Given the description of an element on the screen output the (x, y) to click on. 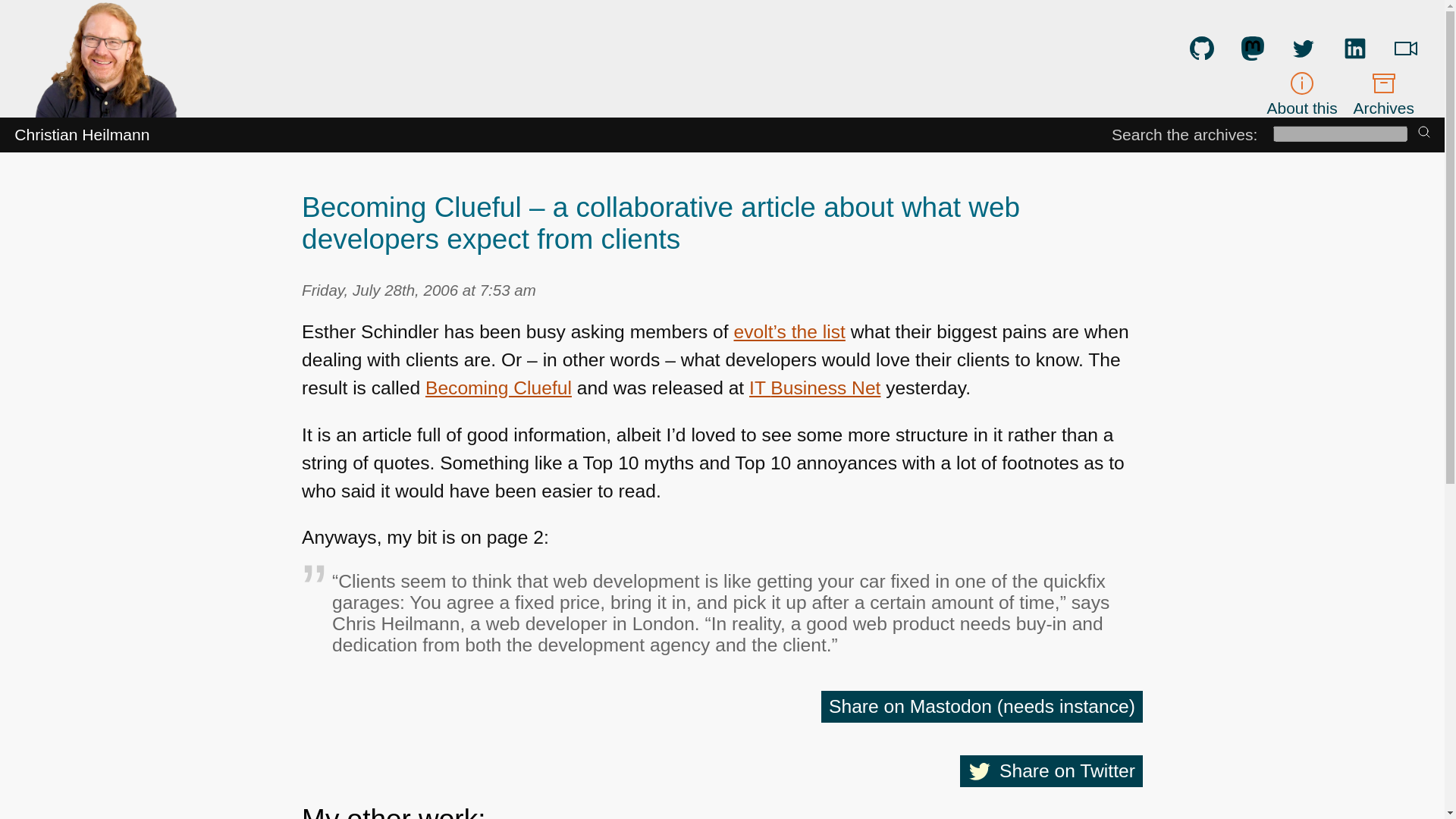
Christian Heilmann (81, 135)
IT Business Net (814, 387)
Codepo8 on Twitter (1303, 48)
Chris Heilmann on YouTube (1405, 48)
Share on Twitter (1050, 771)
Becoming Clueful (498, 387)
Archives (1383, 92)
Chris Heilmann on Mastodon (1252, 48)
Codepo8 on GitHub (1201, 48)
About this (1302, 92)
